Given the description of an element on the screen output the (x, y) to click on. 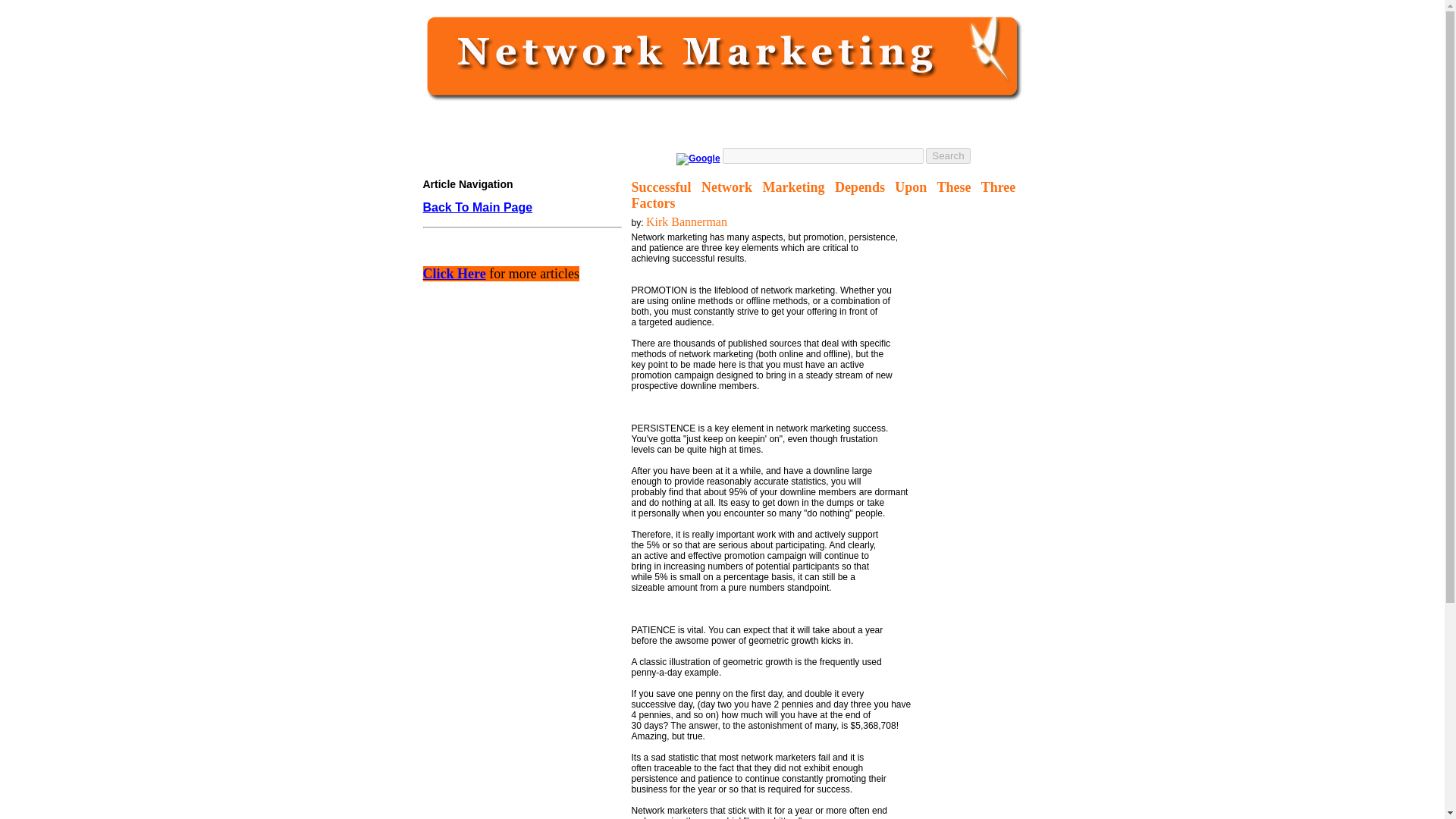
Click Here (454, 273)
Search (947, 154)
Back To Main Page (477, 207)
Search (947, 154)
